Given the description of an element on the screen output the (x, y) to click on. 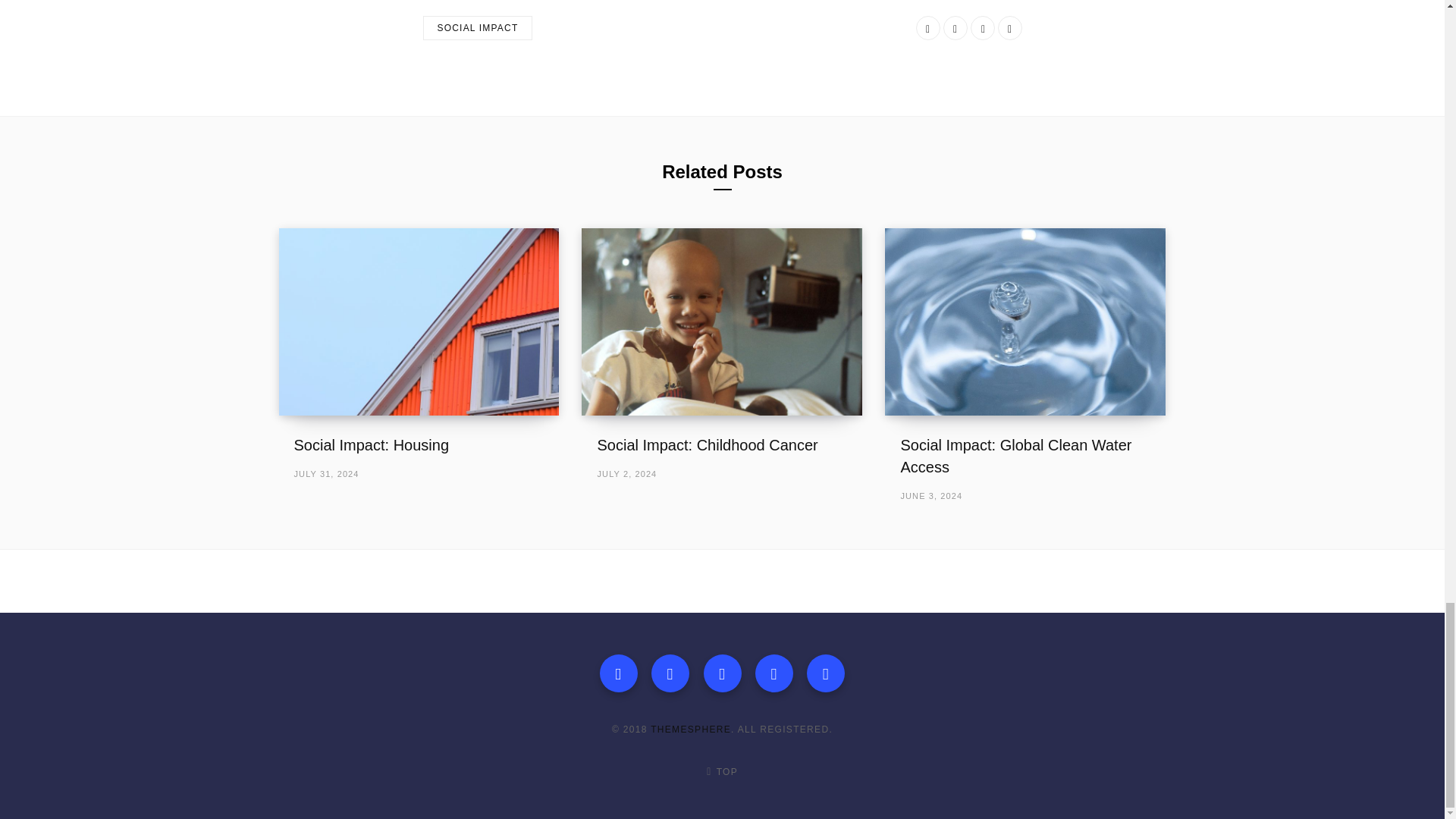
SOCIAL IMPACT (477, 27)
Share on Twitter (955, 27)
Social Impact: Global Clean Water Access (1015, 455)
THEMESPHERE (690, 728)
Social Impact: Childhood Cancer (720, 321)
Social Impact: Housing (419, 321)
Share on Pinterest (1009, 27)
Share on Facebook (927, 27)
Social Impact: Childhood Cancer (706, 444)
TOP (721, 771)
